Given the description of an element on the screen output the (x, y) to click on. 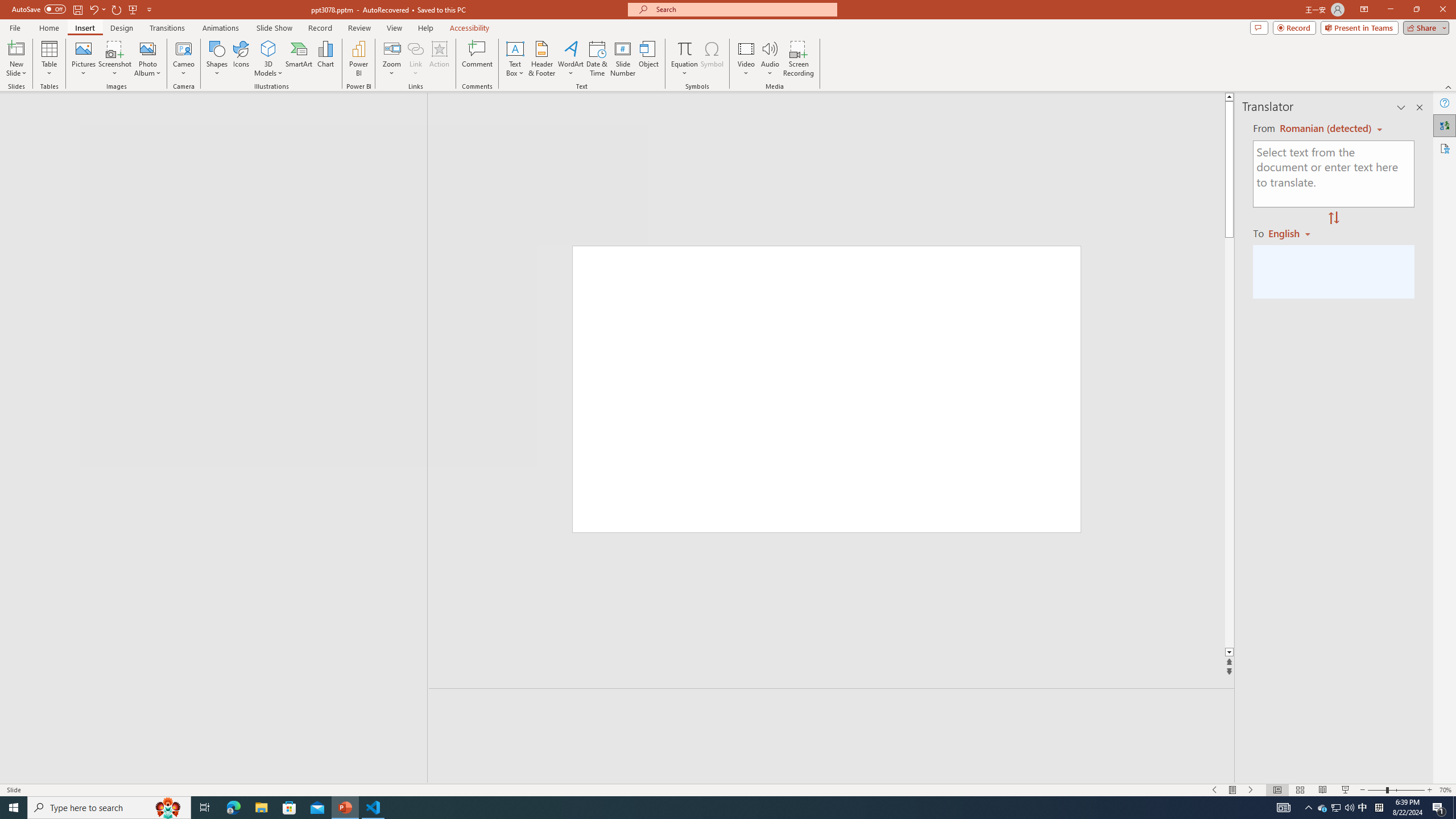
Draw Horizontal Text Box (515, 48)
Slide Show Previous On (1214, 790)
WordArt (570, 58)
Slide Number (622, 58)
3D Models (268, 48)
